Given the description of an element on the screen output the (x, y) to click on. 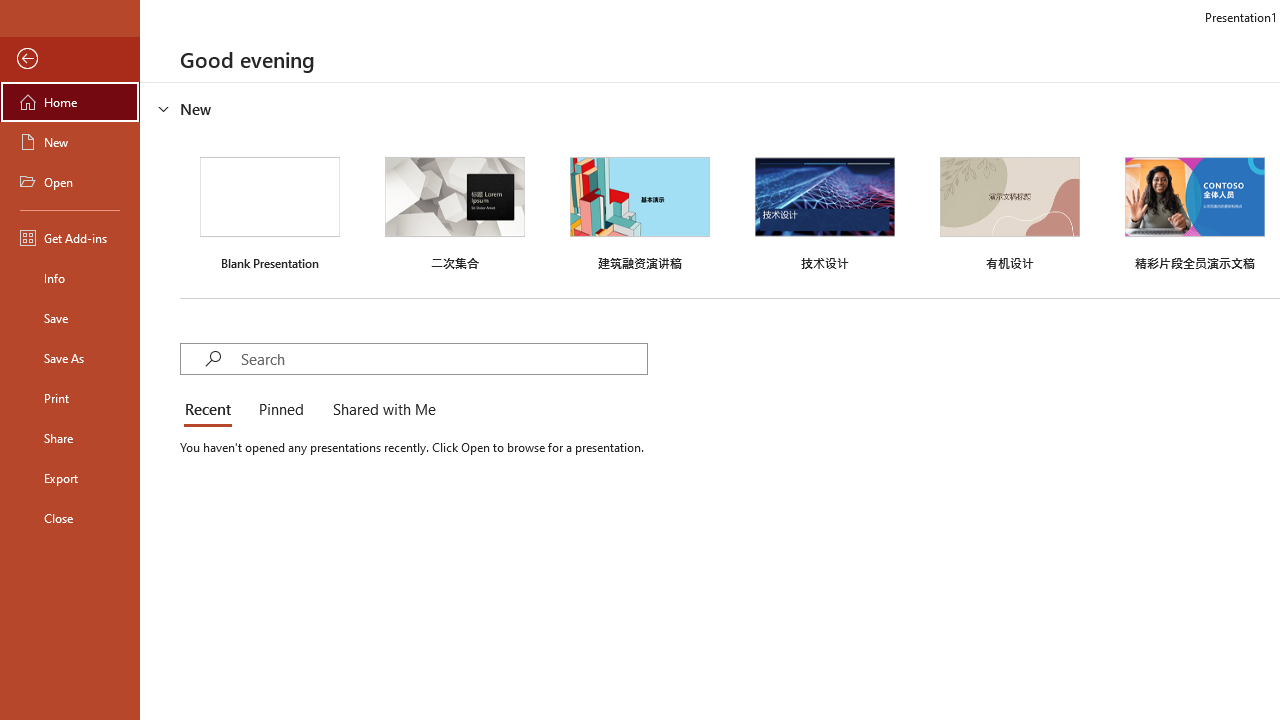
Search (443, 358)
Close (69, 517)
Open (69, 182)
Save As (69, 357)
Export (69, 477)
Hide or show region (164, 108)
Back (69, 59)
Print (69, 398)
Save (69, 317)
New (69, 141)
Blank Presentation (269, 211)
Home (69, 101)
